Given the description of an element on the screen output the (x, y) to click on. 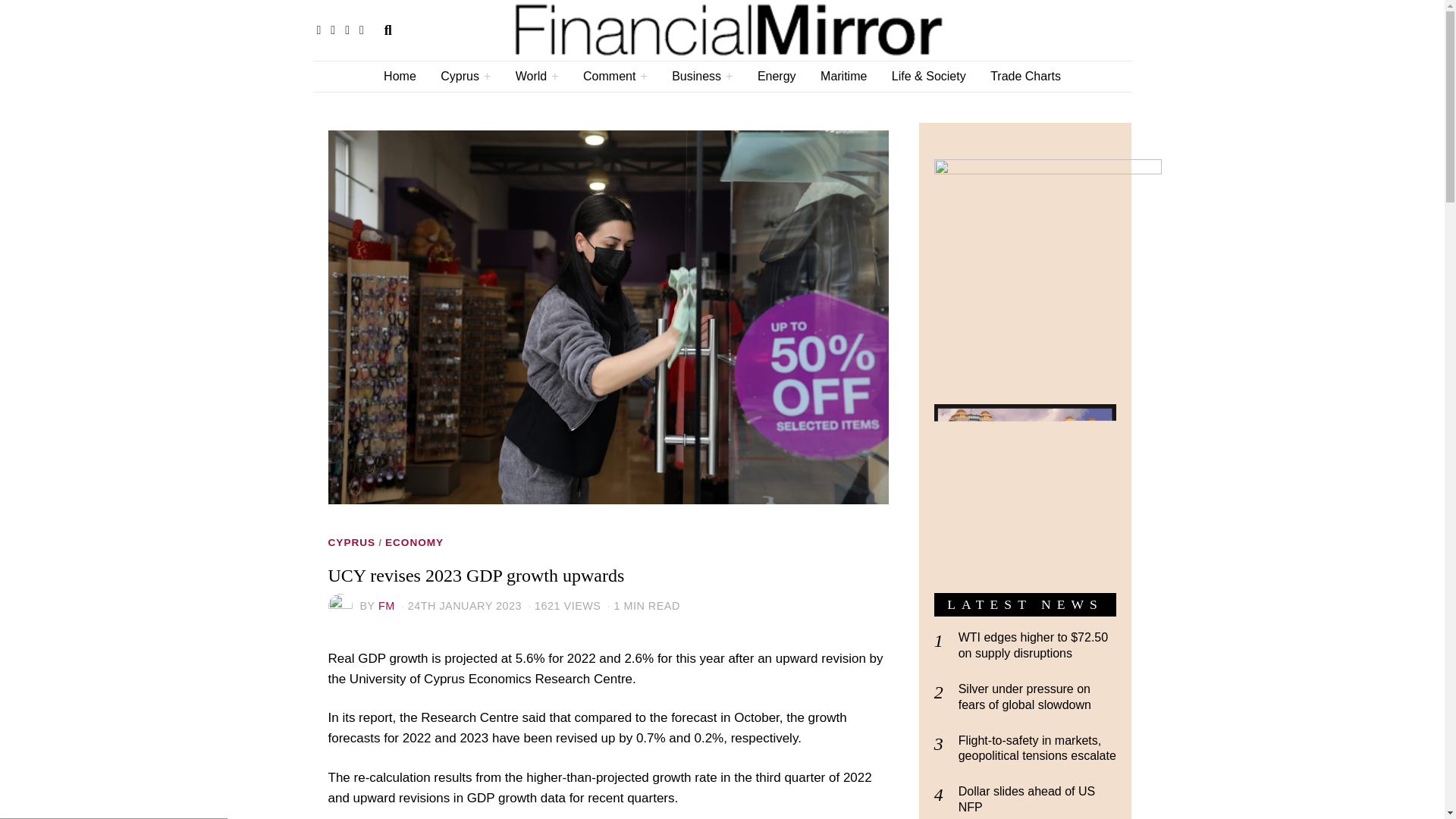
Trade Charts (1025, 76)
CYPRUS (351, 543)
Comment (615, 76)
1621 views (563, 605)
FM (386, 605)
Energy (776, 76)
Maritime (843, 76)
Home (399, 76)
ECONOMY (414, 543)
Cyprus (464, 76)
